Given the description of an element on the screen output the (x, y) to click on. 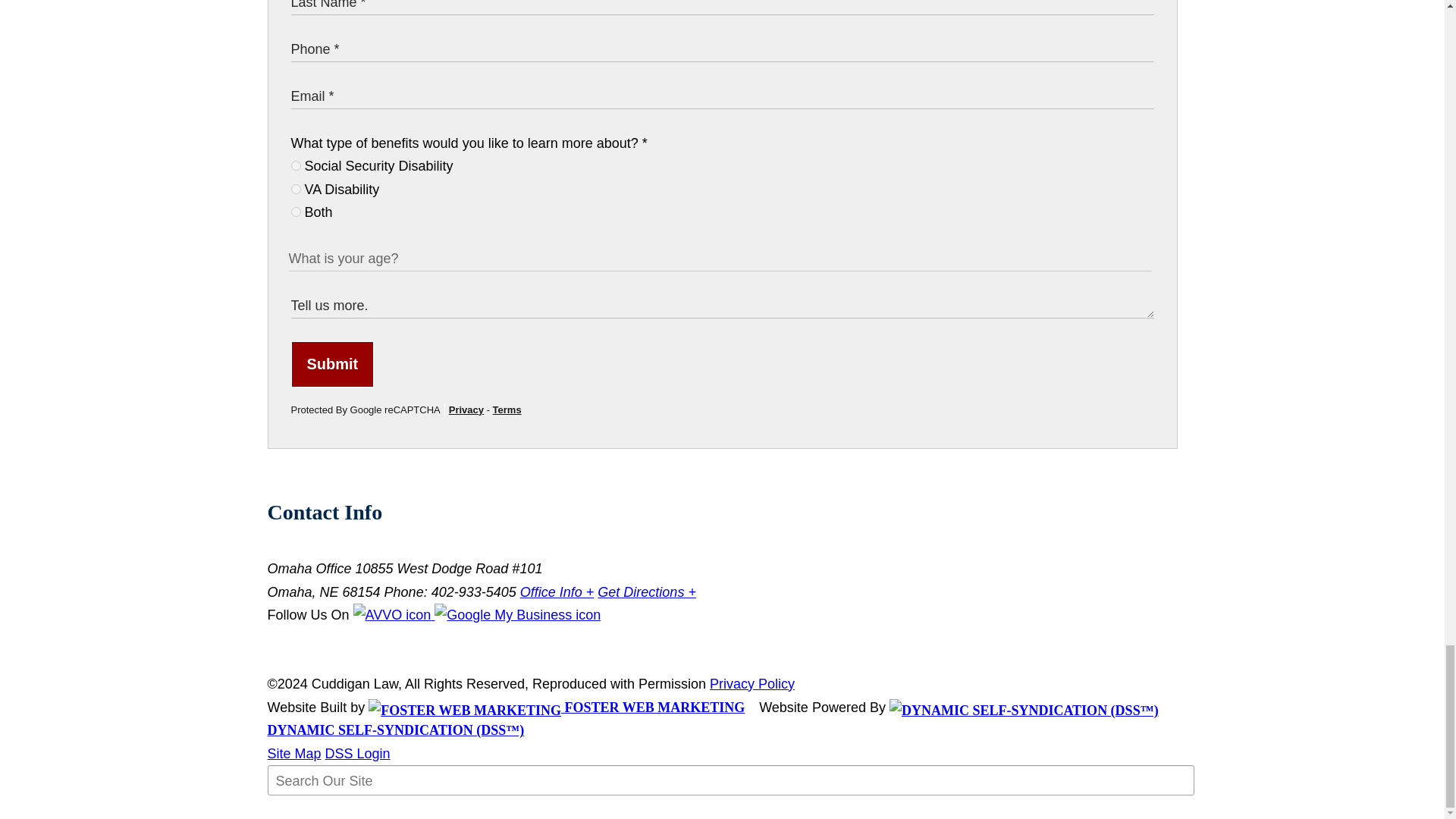
VA Disability (296, 189)
Social Security Disability (296, 165)
Both (296, 212)
Search (304, 811)
